Given the description of an element on the screen output the (x, y) to click on. 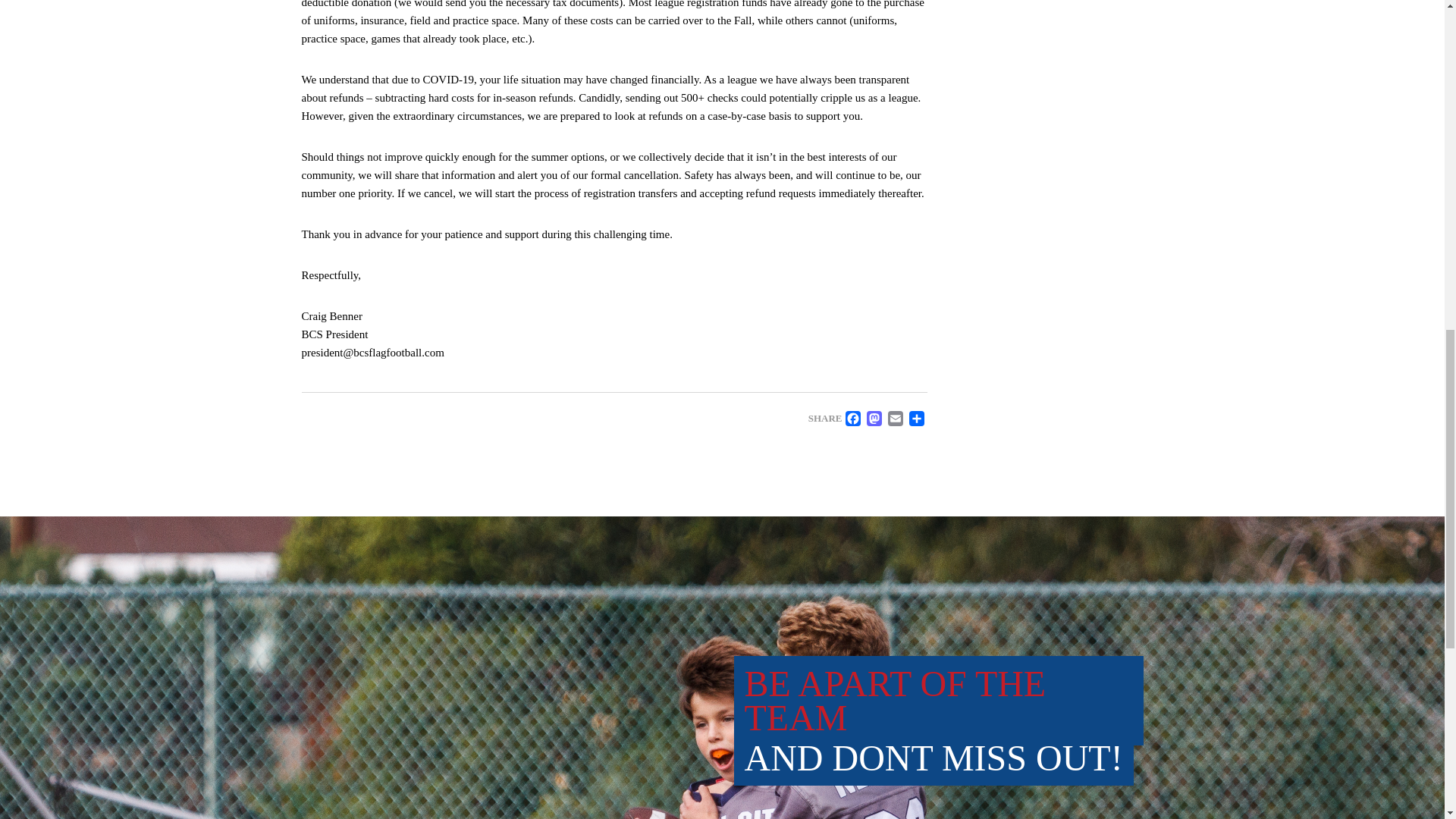
Mastodon (873, 418)
Email (894, 418)
Facebook (852, 418)
